Given the description of an element on the screen output the (x, y) to click on. 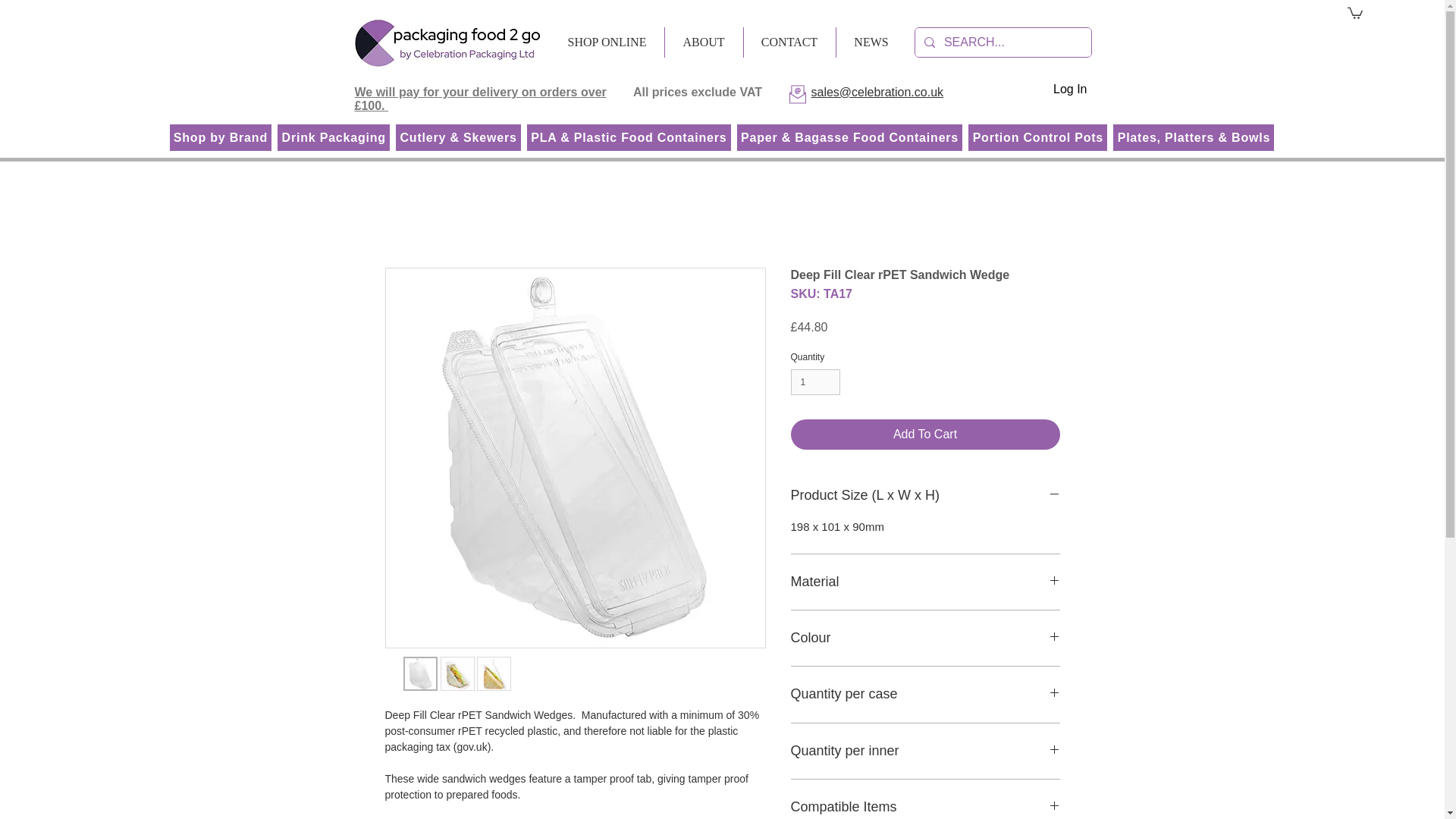
ABOUT (702, 42)
1 (815, 382)
NEWS (870, 42)
Log In (1069, 89)
CONTACT (788, 42)
